Given the description of an element on the screen output the (x, y) to click on. 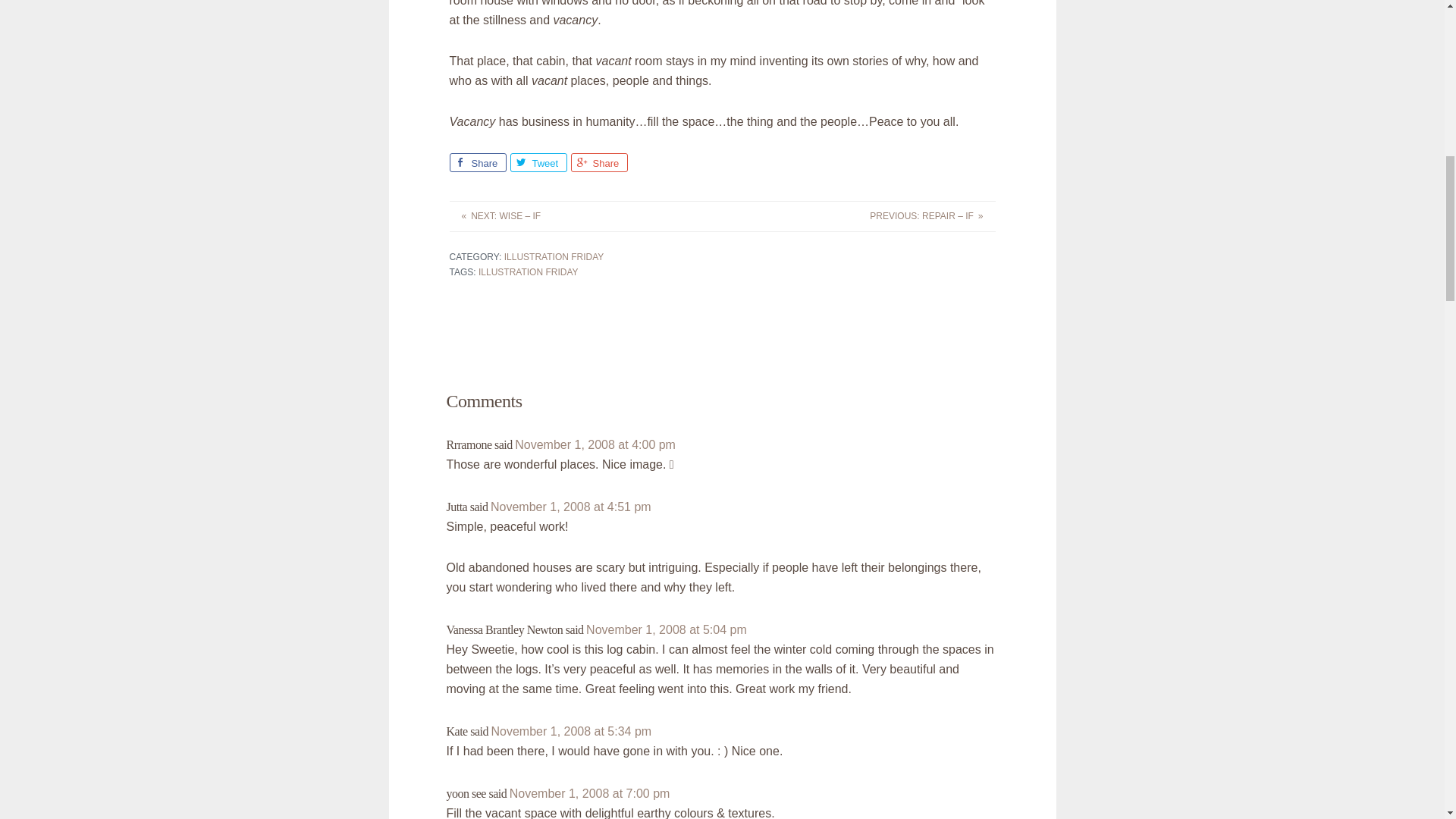
November 1, 2008 at 4:00 pm (595, 444)
Share (476, 162)
ILLUSTRATION FRIDAY (528, 271)
ILLUSTRATION FRIDAY (553, 256)
Share (598, 162)
November 1, 2008 at 5:04 pm (666, 629)
Tweet (537, 162)
November 1, 2008 at 4:51 pm (570, 506)
November 1, 2008 at 5:34 pm (570, 730)
